Given the description of an element on the screen output the (x, y) to click on. 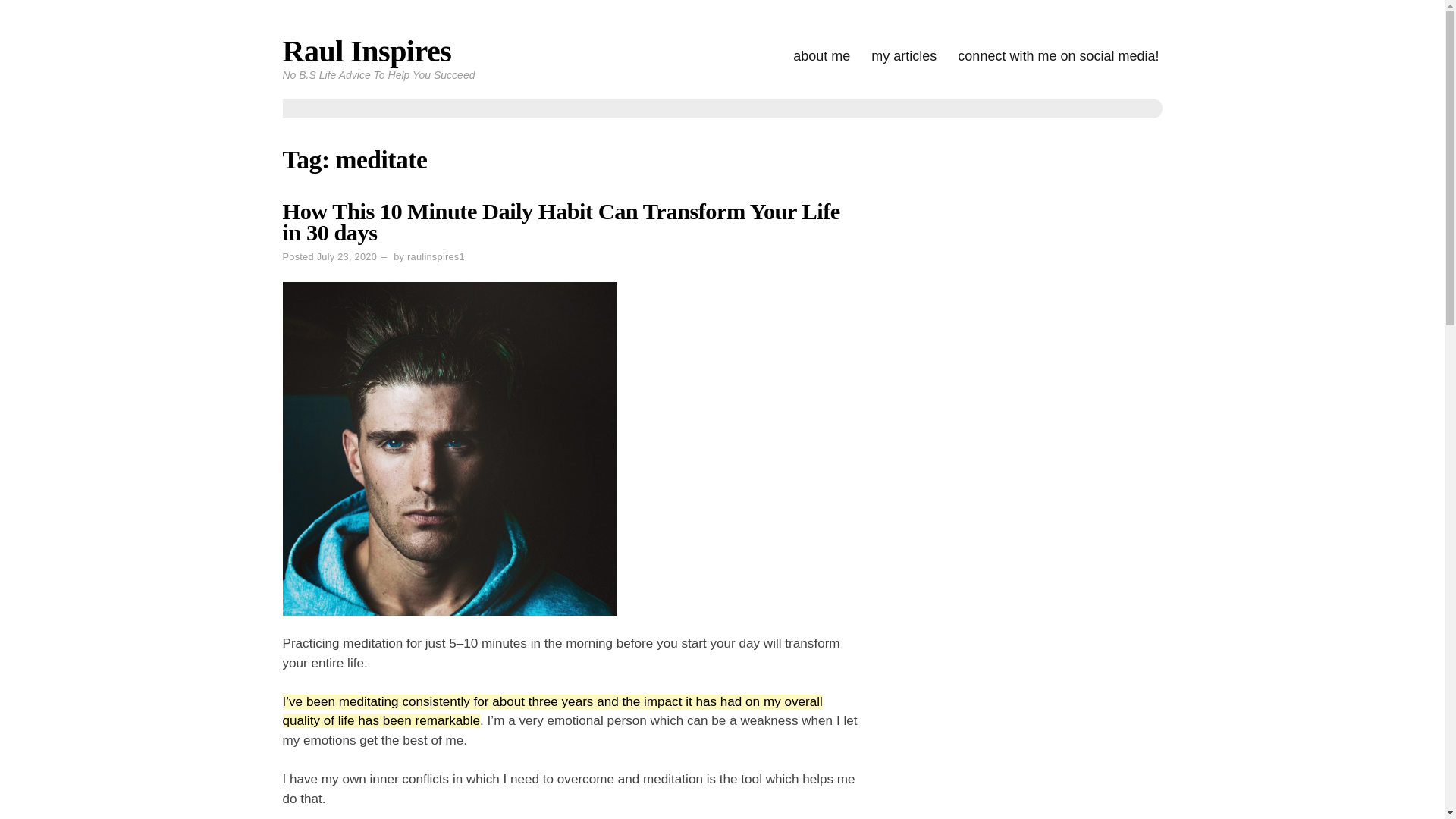
my articles (903, 56)
July 23, 2020 (347, 256)
raulinspires1 (435, 256)
connect with me on social media! (1058, 56)
about me (821, 56)
Raul Inspires (366, 50)
